Given the description of an element on the screen output the (x, y) to click on. 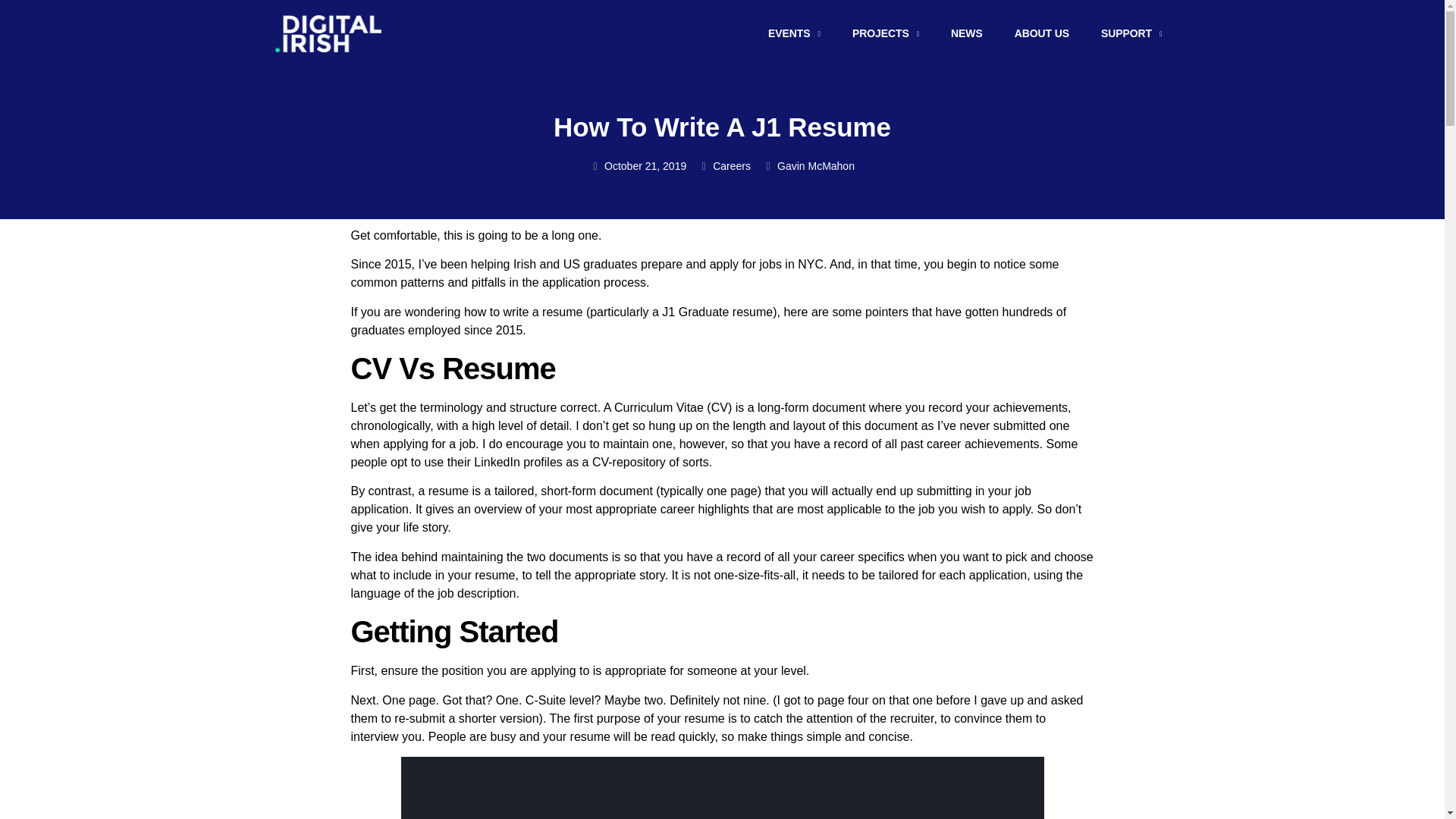
EVENTS (793, 33)
NEWS (966, 33)
October 21, 2019 (637, 166)
Careers (732, 165)
ABOUT US (1041, 33)
SUPPORT (1131, 33)
PROJECTS (885, 33)
